Given the description of an element on the screen output the (x, y) to click on. 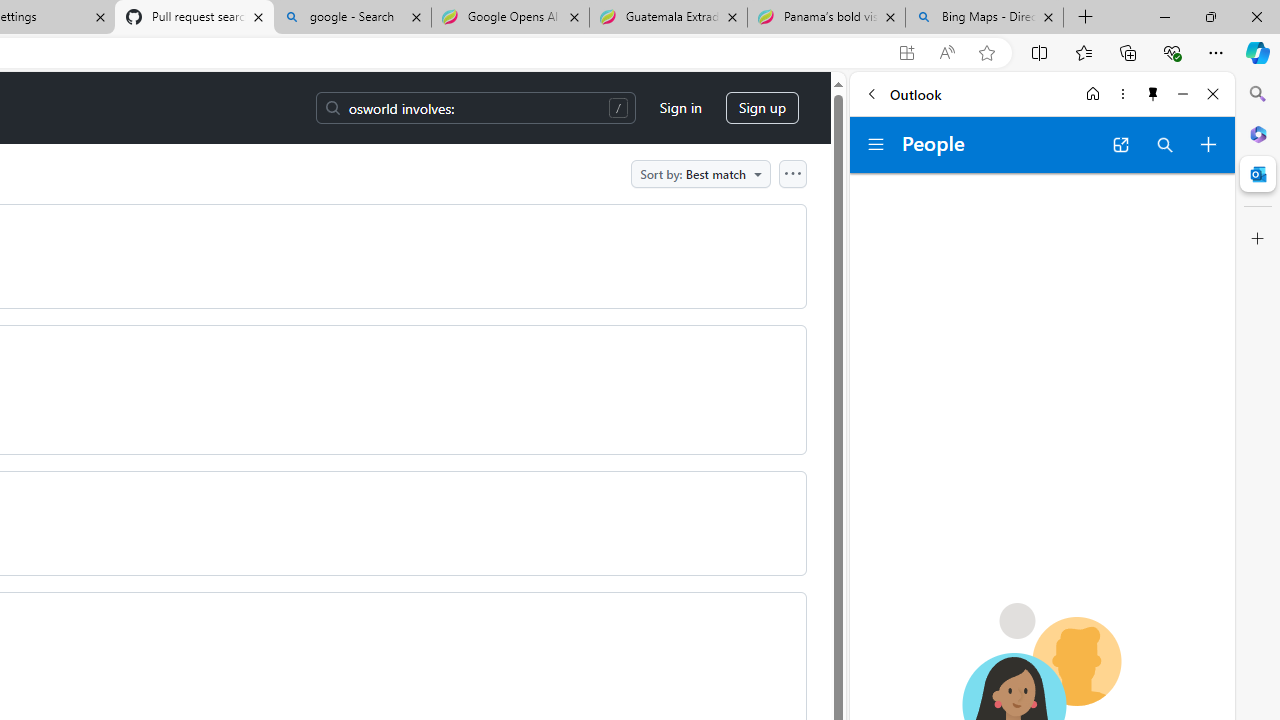
App available. Install GitHub (906, 53)
Open in new tab (1120, 144)
